Given the description of an element on the screen output the (x, y) to click on. 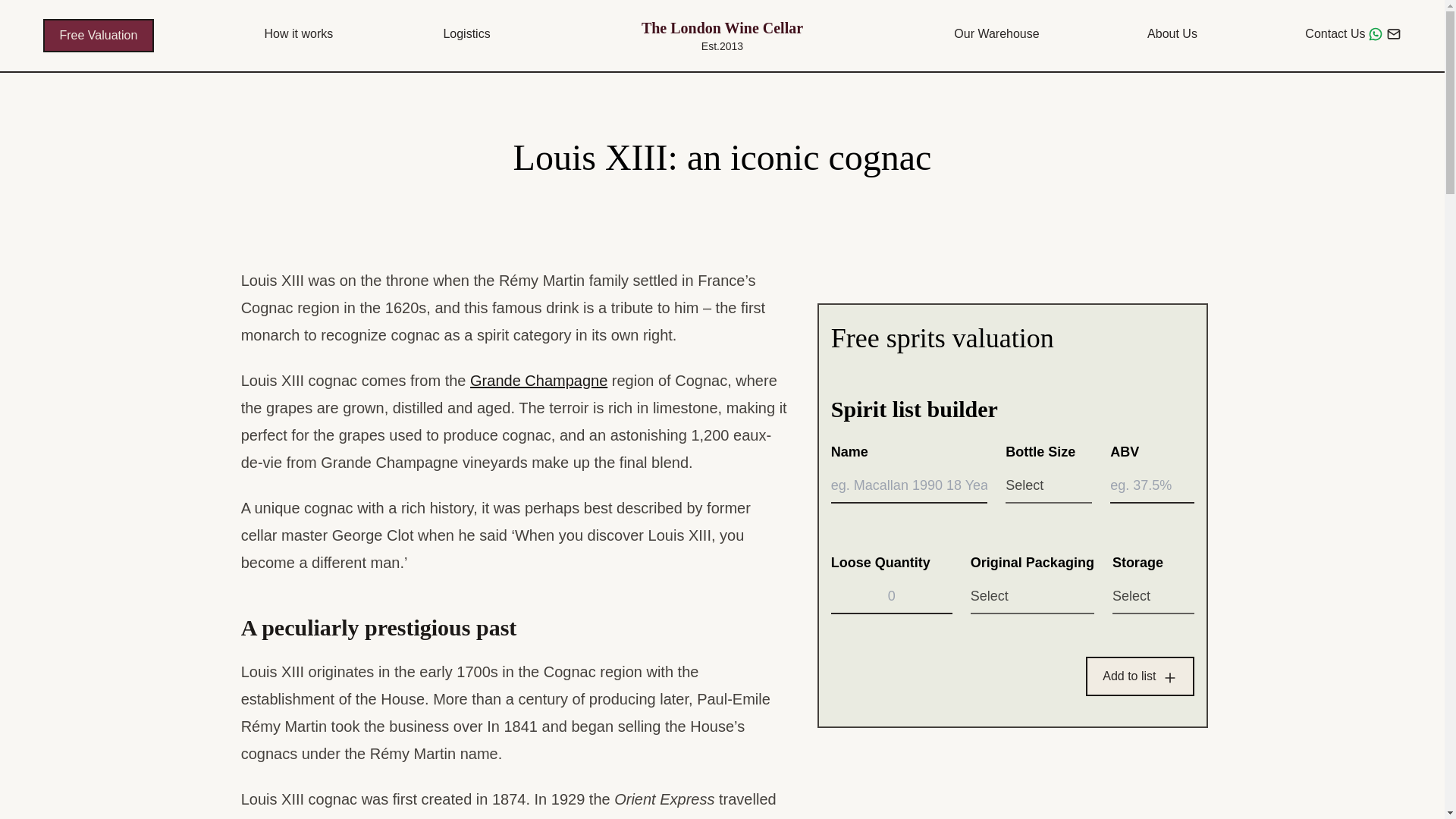
About Us (1171, 35)
Add to list (1139, 676)
How it works (298, 35)
Grande Champagne (538, 380)
Free Valuation (98, 35)
Our Warehouse (996, 35)
Contact Us (1352, 35)
Logistics (465, 35)
